Given the description of an element on the screen output the (x, y) to click on. 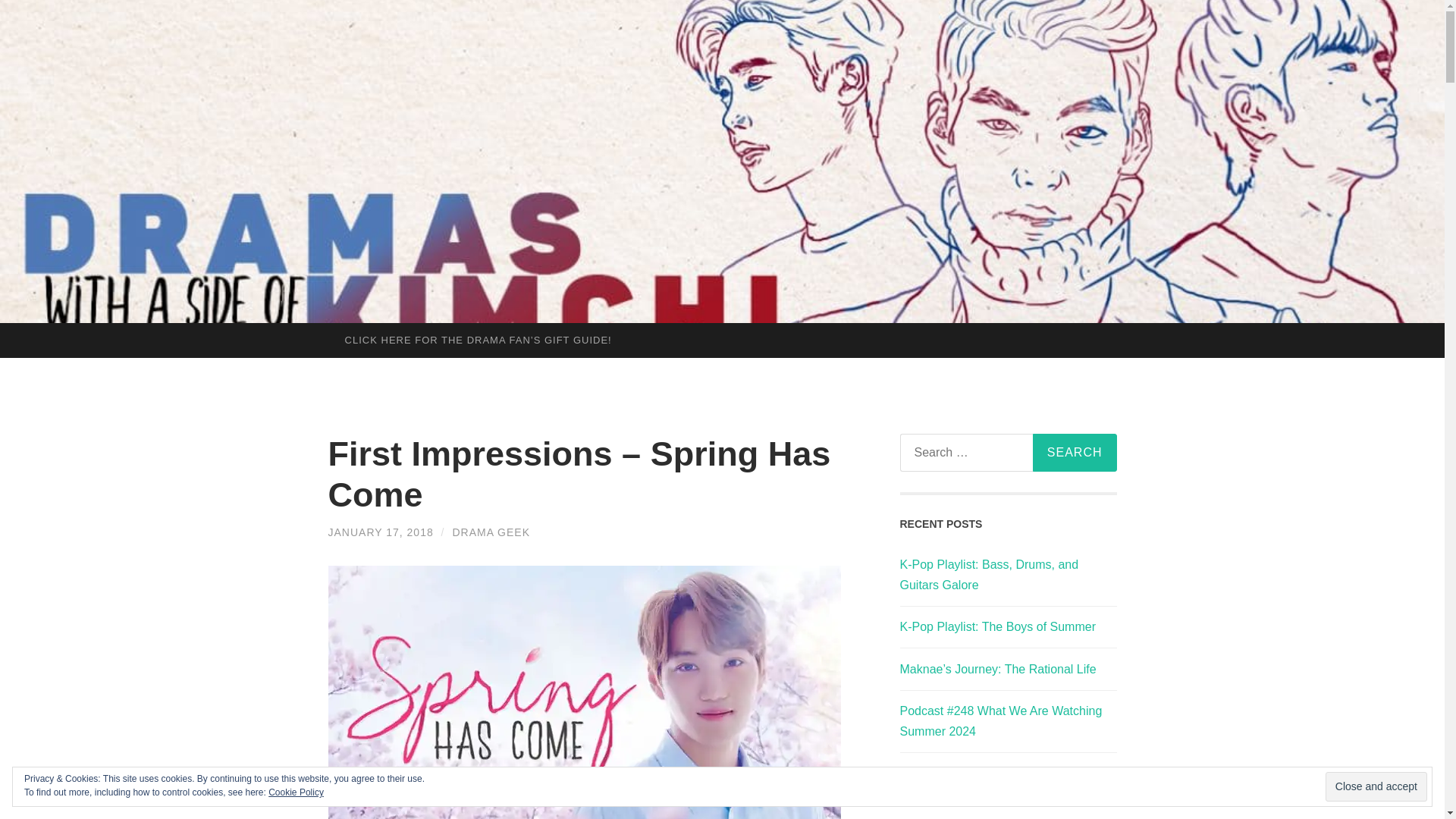
Search (1074, 452)
Search (1074, 452)
JANUARY 17, 2018 (379, 532)
SKIP TO CONTENT (16, 334)
DRAMA GEEK (490, 532)
Close and accept (1375, 786)
